Given the description of an element on the screen output the (x, y) to click on. 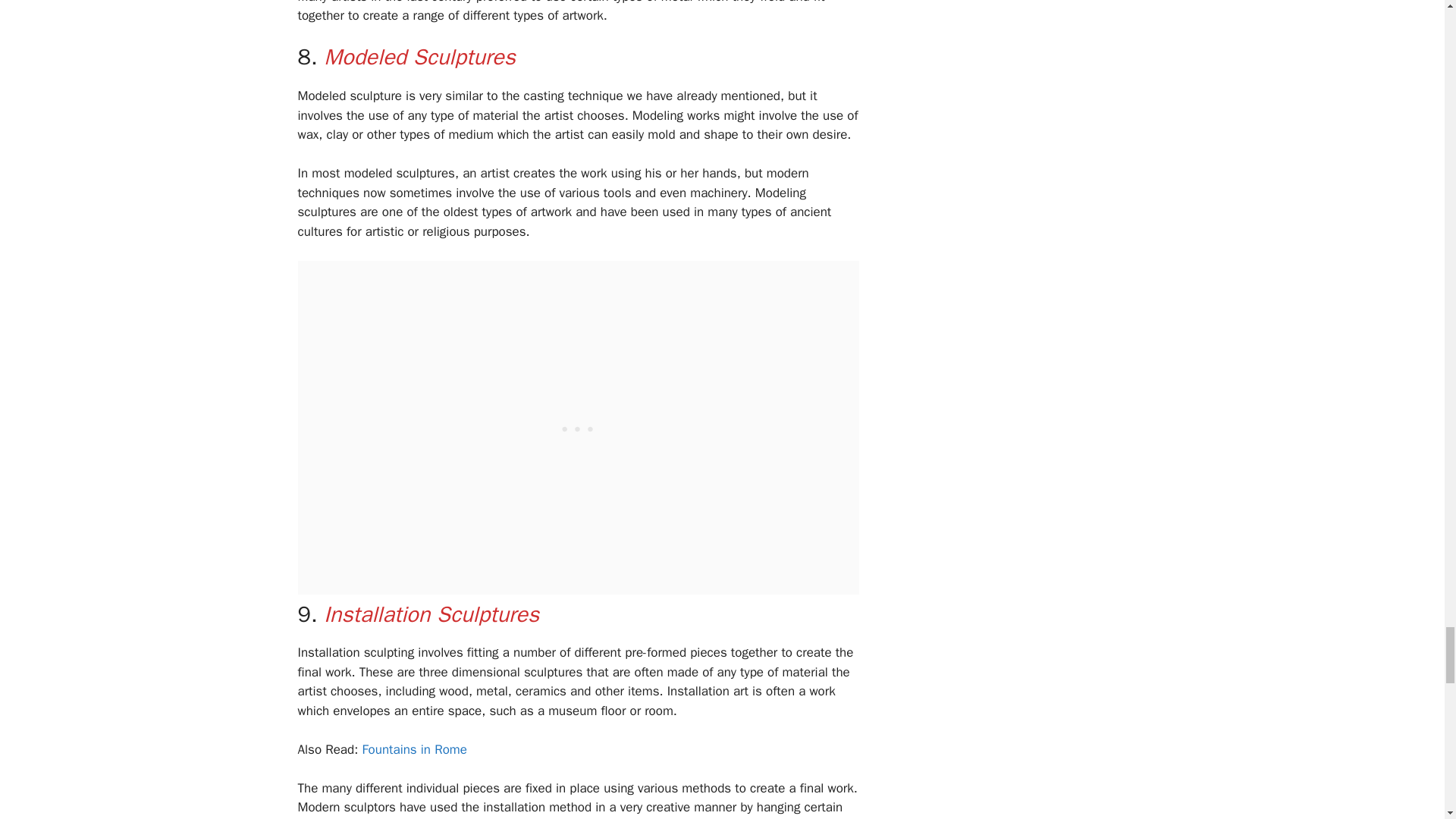
Fountains in Rome (414, 749)
